Given the description of an element on the screen output the (x, y) to click on. 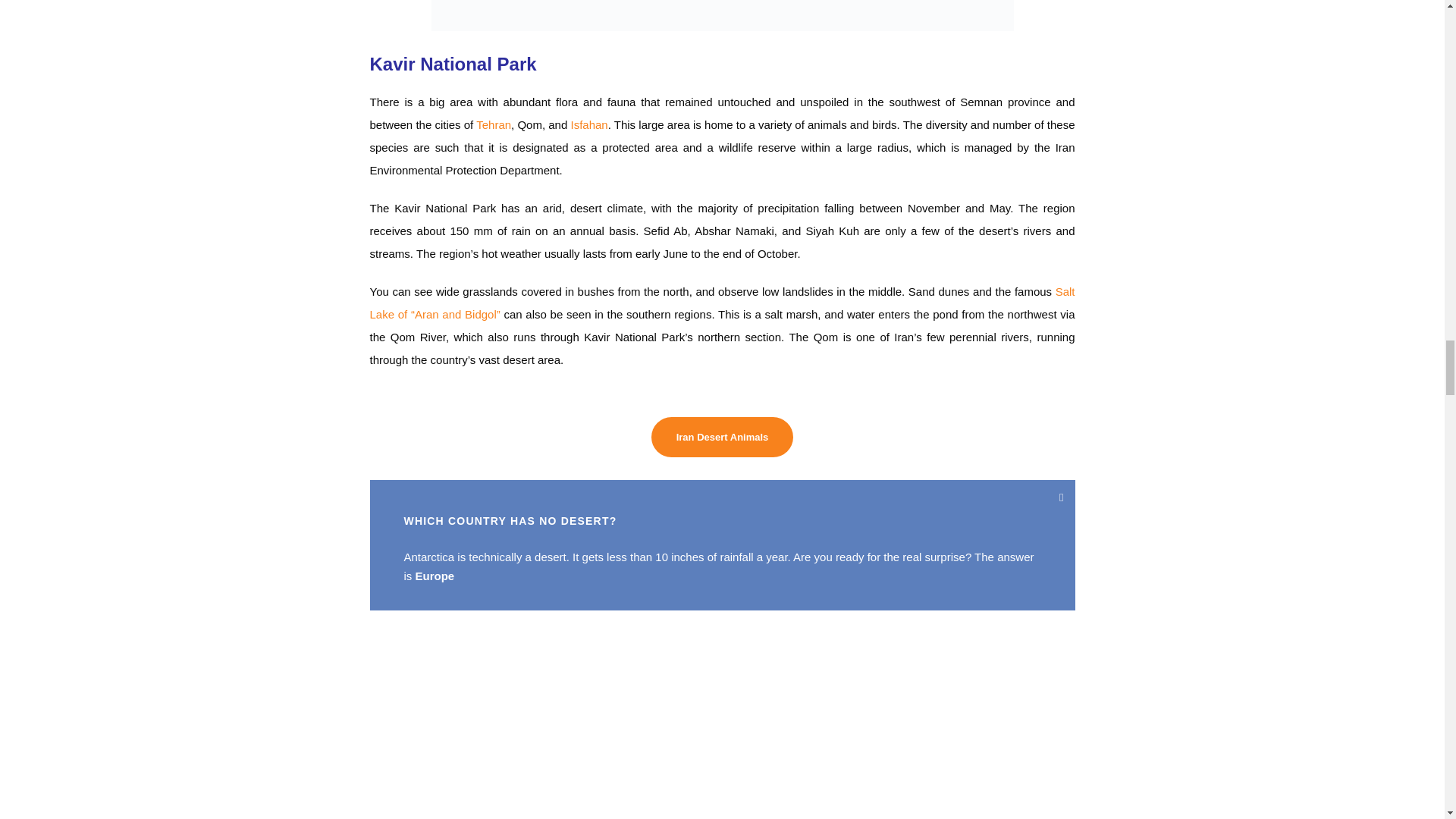
Iran kavir national park travelartin.com (721, 15)
